Given the description of an element on the screen output the (x, y) to click on. 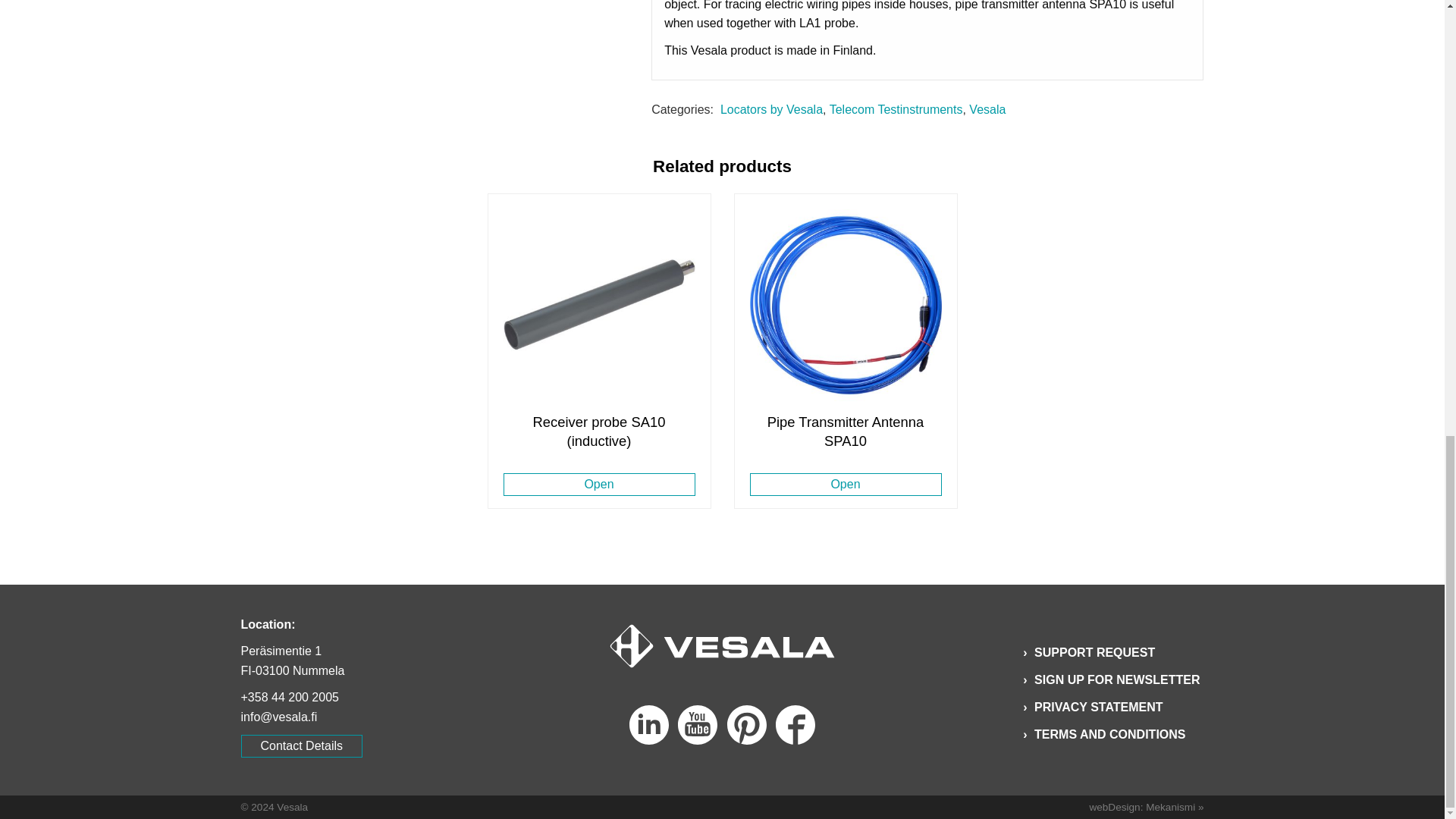
SIGN UP FOR NEWSLETTER (1117, 679)
TERMS AND CONDITIONS (1109, 734)
Locators by Vesala (771, 109)
Vesala (987, 109)
Contact Details (301, 745)
PRIVACY STATEMENT (1098, 707)
Telecom Testinstruments (895, 109)
SUPPORT REQUEST (1094, 652)
